Given the description of an element on the screen output the (x, y) to click on. 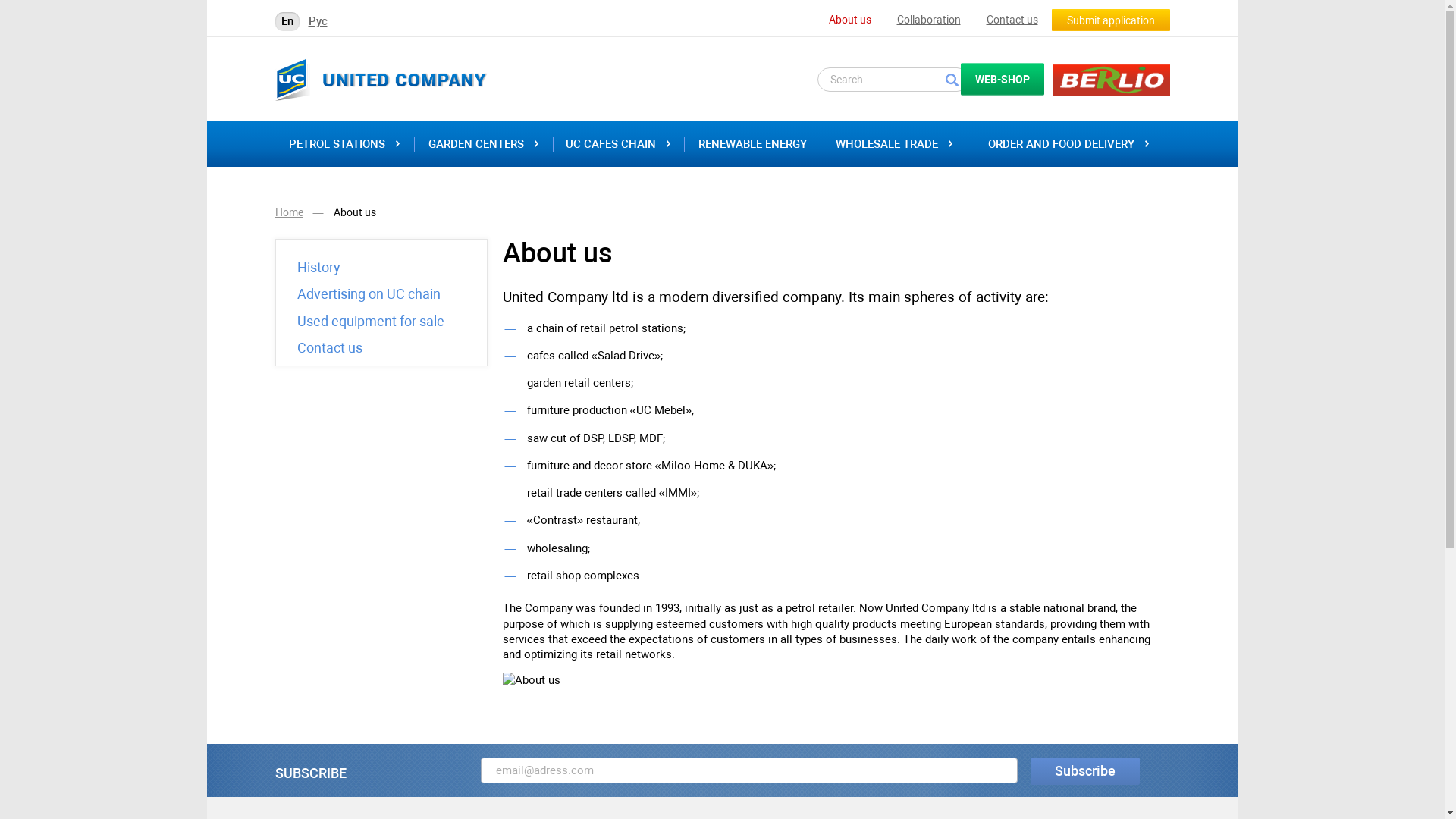
PETROL STATIONS Element type: text (344, 143)
RENEWABLE ENERGY Element type: text (752, 143)
WEB-SHOP Element type: text (1001, 78)
About www.united-company.by Element type: hover (835, 679)
Contact us Element type: text (1011, 19)
ORDER AND FOOD DELIVERY Element type: text (1068, 143)
Contact us Element type: text (329, 347)
History Element type: text (318, 267)
UC CAFES CHAIN Element type: text (618, 143)
WHOLESALE TRADE Element type: text (893, 143)
United Company Element type: hover (380, 78)
Collaboration Element type: text (928, 19)
Advertising on UC chain Element type: text (368, 294)
Subscribe Element type: text (1084, 770)
Home Element type: text (288, 212)
Used equipment for sale Element type: text (370, 321)
Submit application Element type: text (1110, 20)
GARDEN CENTERS Element type: text (483, 143)
Subscribe Element type: hover (748, 770)
